Given the description of an element on the screen output the (x, y) to click on. 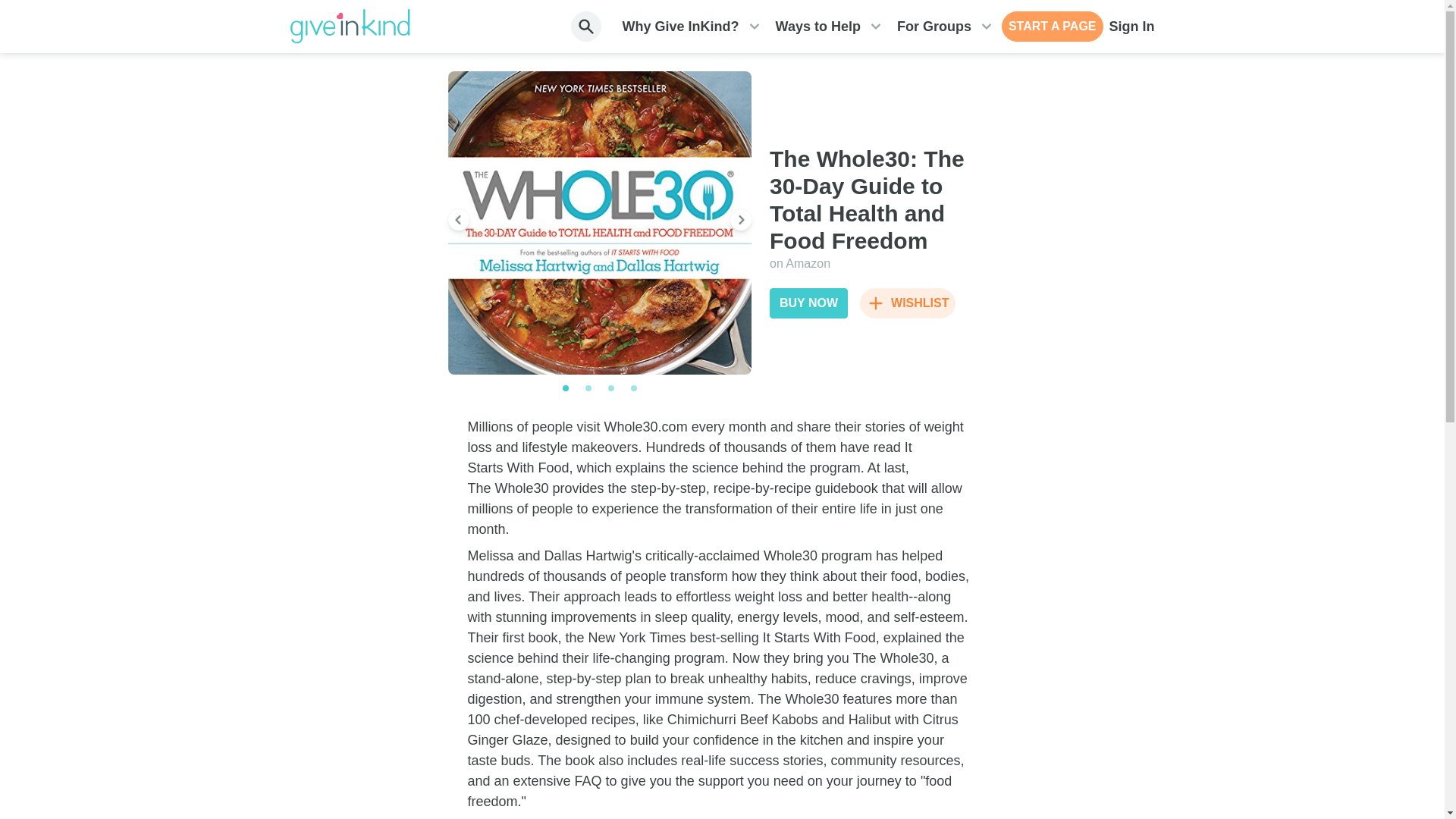
Why Give InKind? (681, 27)
For Groups (933, 27)
WISHLIST (907, 303)
Sign In (1131, 27)
START A PAGE (1052, 26)
Ways to Help (818, 27)
BUY NOW (808, 303)
